Given the description of an element on the screen output the (x, y) to click on. 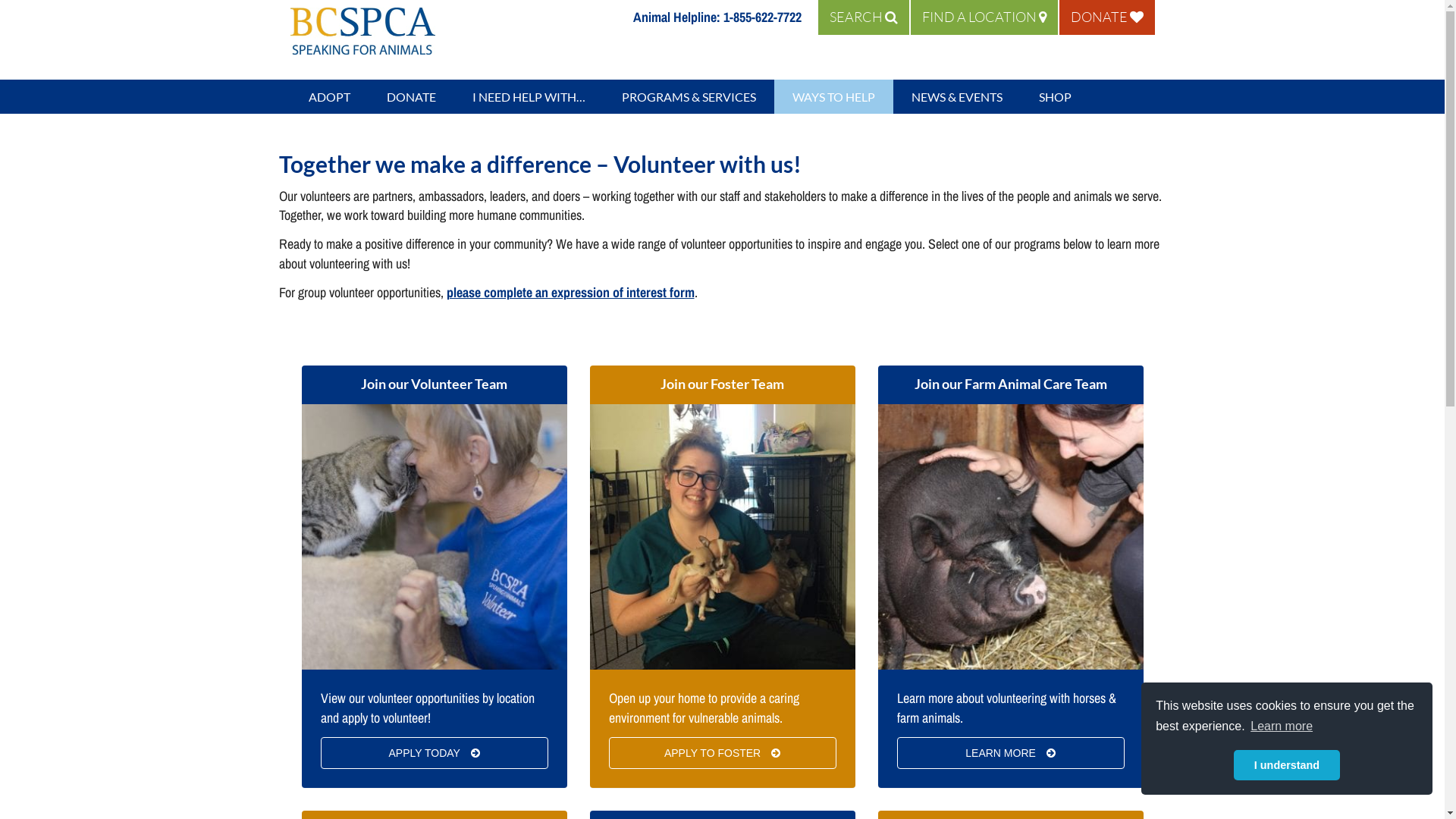
DONATE Element type: text (411, 96)
NEWS & EVENTS Element type: text (956, 96)
Learn more Element type: text (1281, 726)
FIND A LOCATION Element type: text (983, 17)
DONATE Element type: text (1106, 17)
SHOP Element type: text (1054, 96)
PROGRAMS & SERVICES Element type: text (688, 96)
please complete an expression of interest form Element type: text (569, 291)
ADOPT Element type: text (328, 96)
WAYS TO HELP Element type: text (832, 96)
I understand Element type: text (1286, 764)
SEARCH Element type: text (862, 17)
